Given the description of an element on the screen output the (x, y) to click on. 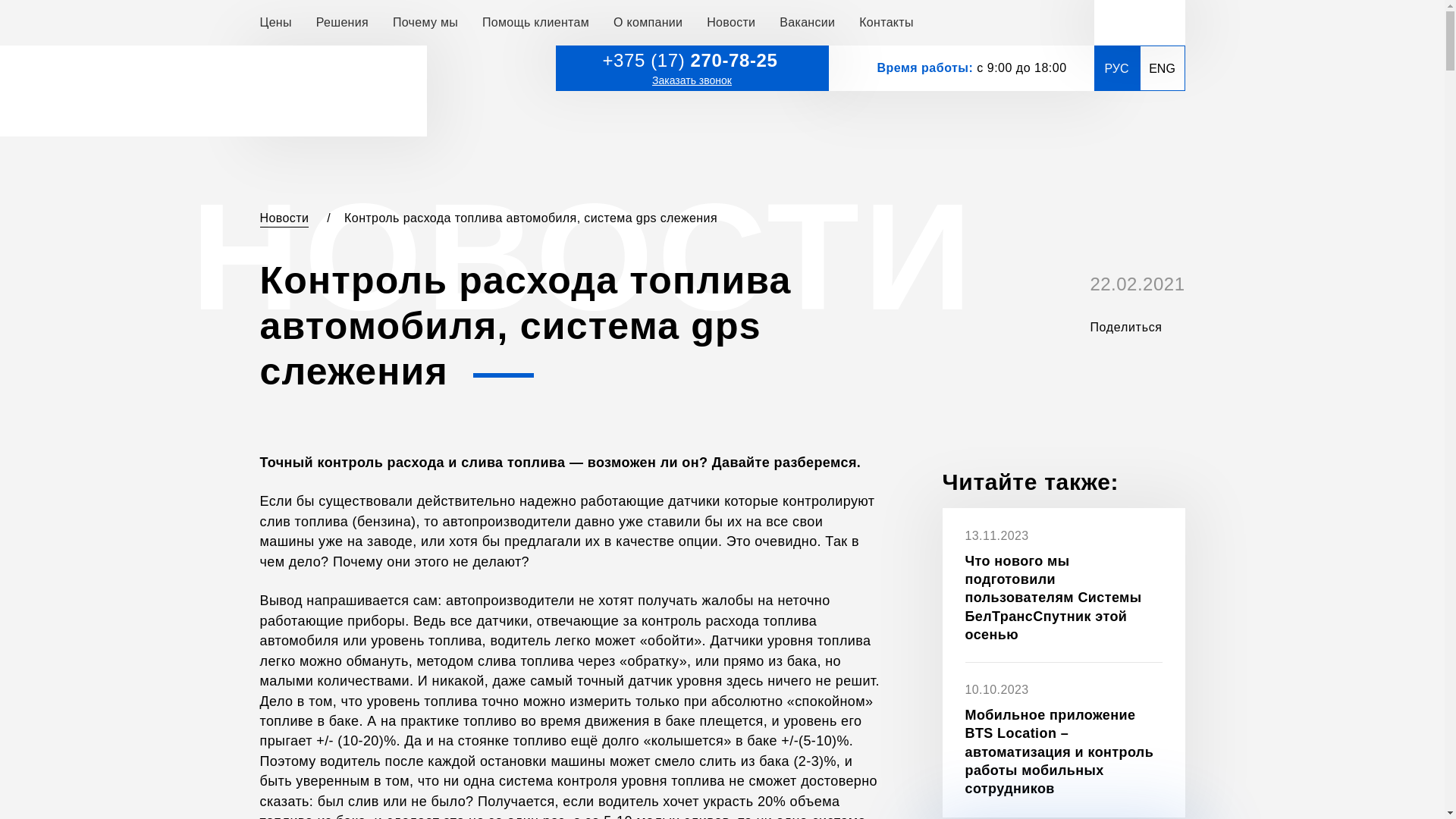
ENG Element type: text (1161, 68)
+375 (17) 270-78-25 Element type: text (691, 60)
